Given the description of an element on the screen output the (x, y) to click on. 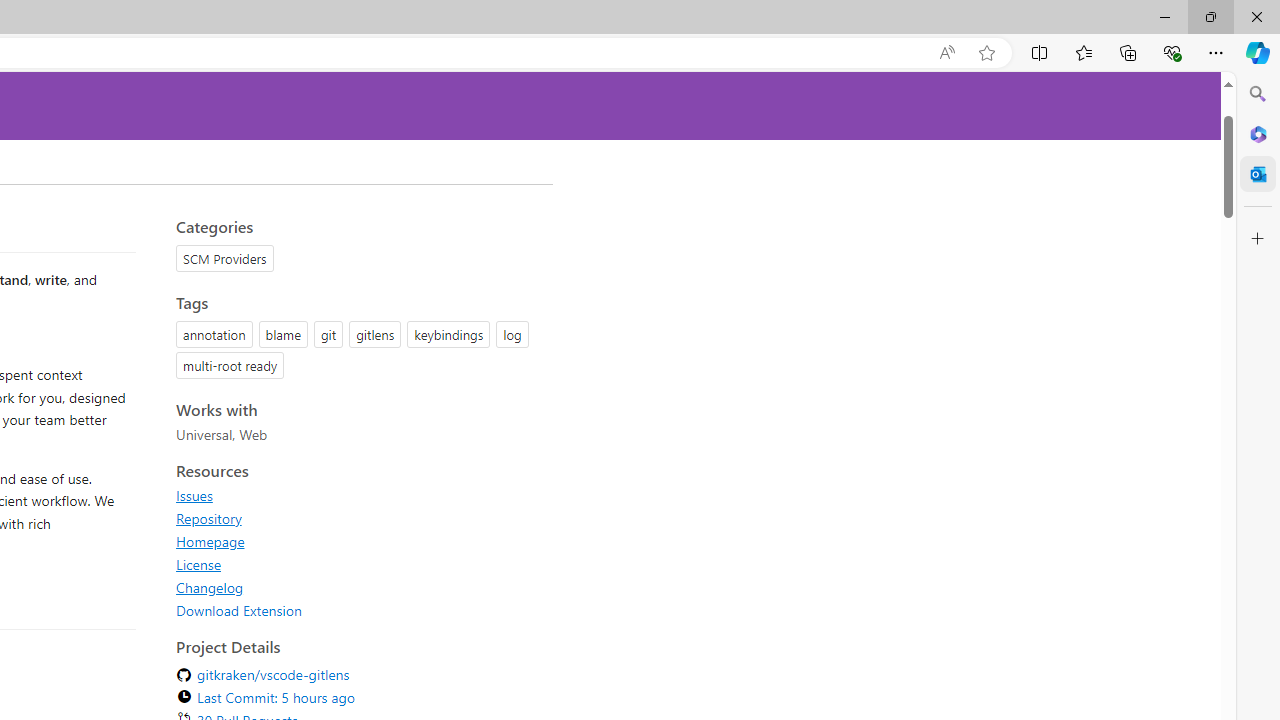
Download Extension (358, 610)
Issues (358, 495)
Repository (358, 518)
Issues (194, 495)
License (358, 564)
